Given the description of an element on the screen output the (x, y) to click on. 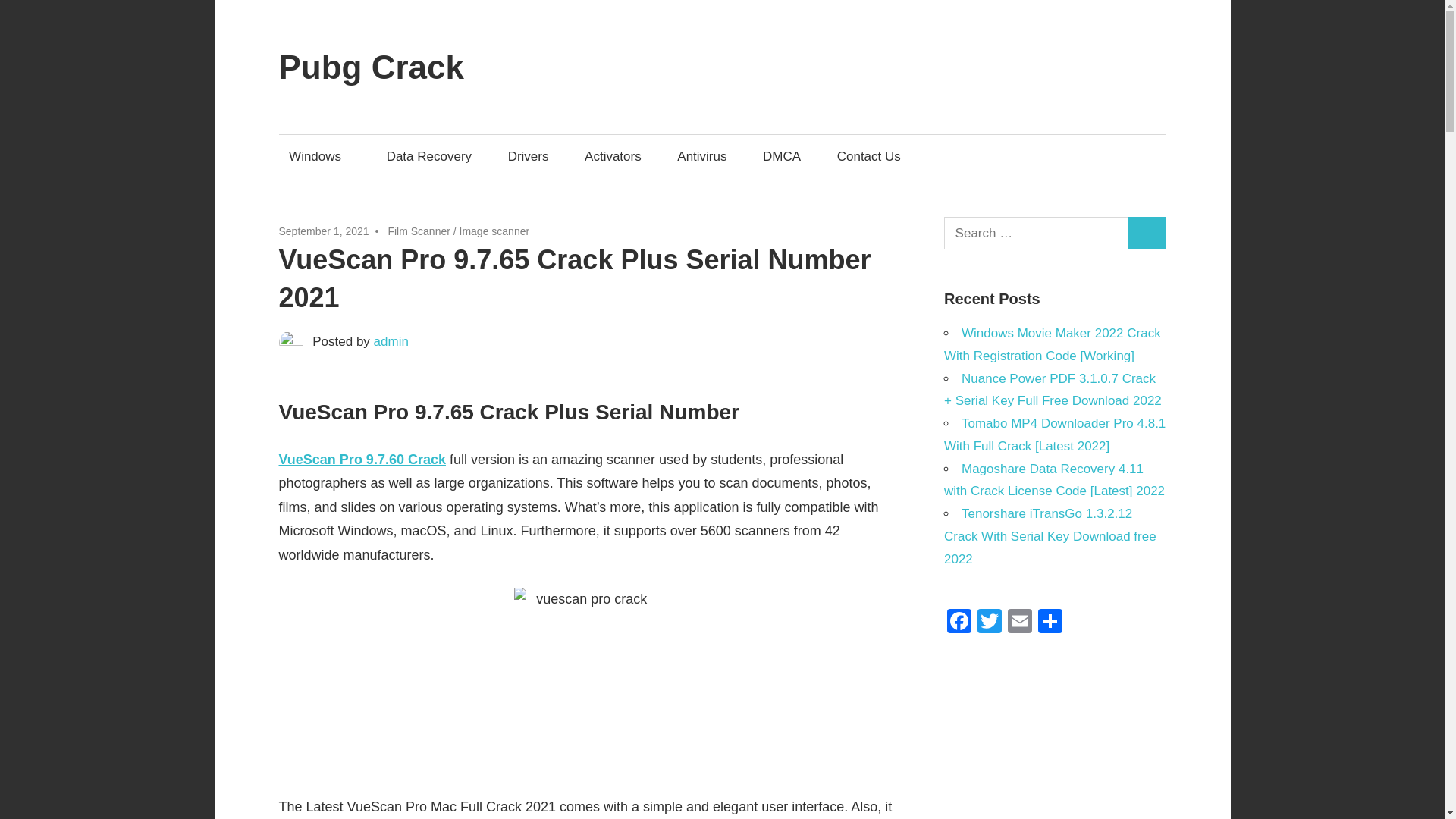
Drivers (528, 156)
View all posts by admin (391, 341)
Image scanner (494, 231)
Windows (320, 156)
Search for: (1035, 233)
8:00 am (324, 231)
Contact Us (869, 156)
September 1, 2021 (324, 231)
VueScan Pro 9.7.60 Crack (362, 459)
Pubg Crack (371, 66)
